Given the description of an element on the screen output the (x, y) to click on. 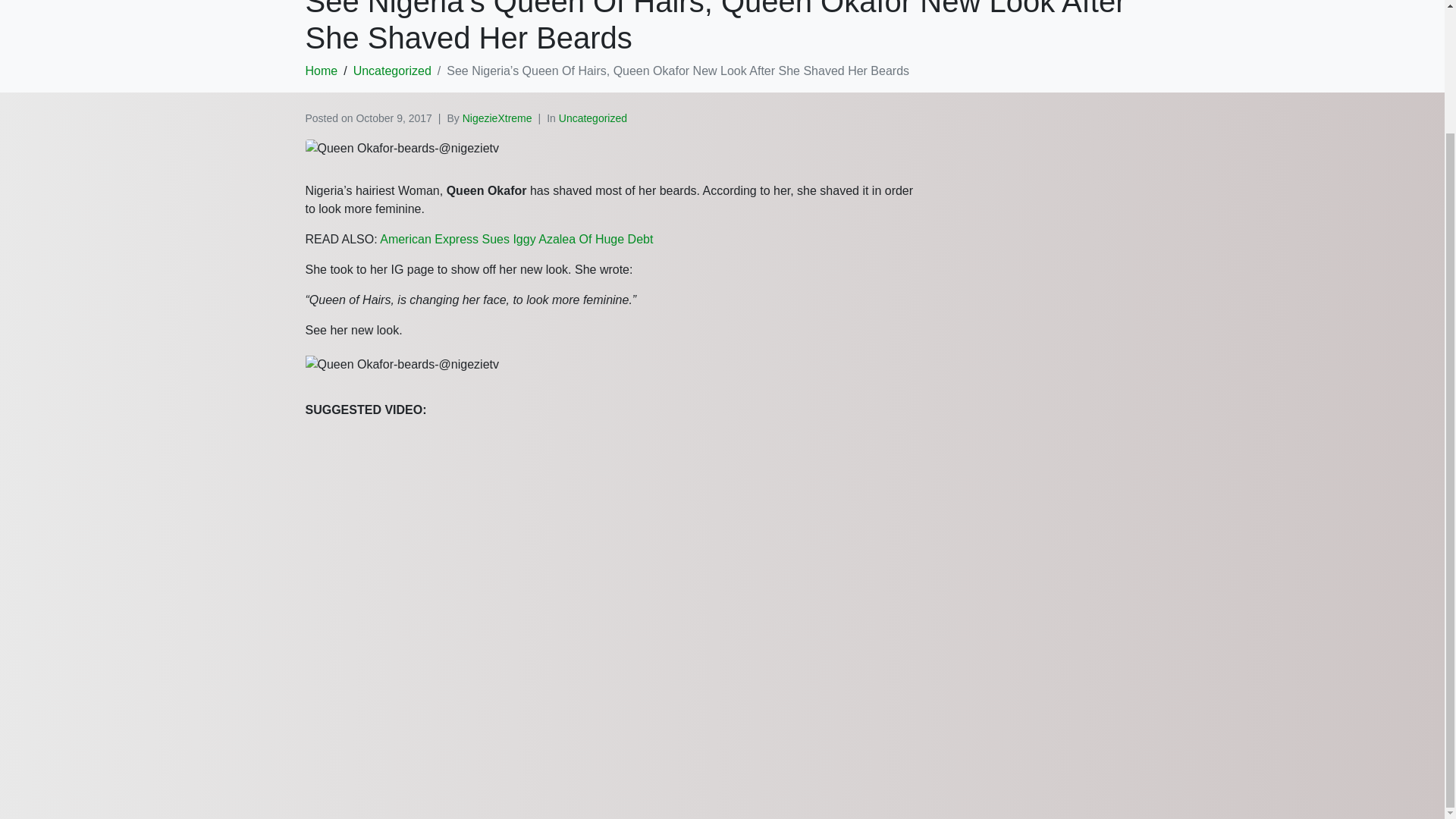
American Express Sues Iggy Azalea Of Huge Debt (516, 238)
Uncategorized (391, 70)
NigezieXtreme (497, 118)
Uncategorized (593, 118)
Home (320, 70)
